Given the description of an element on the screen output the (x, y) to click on. 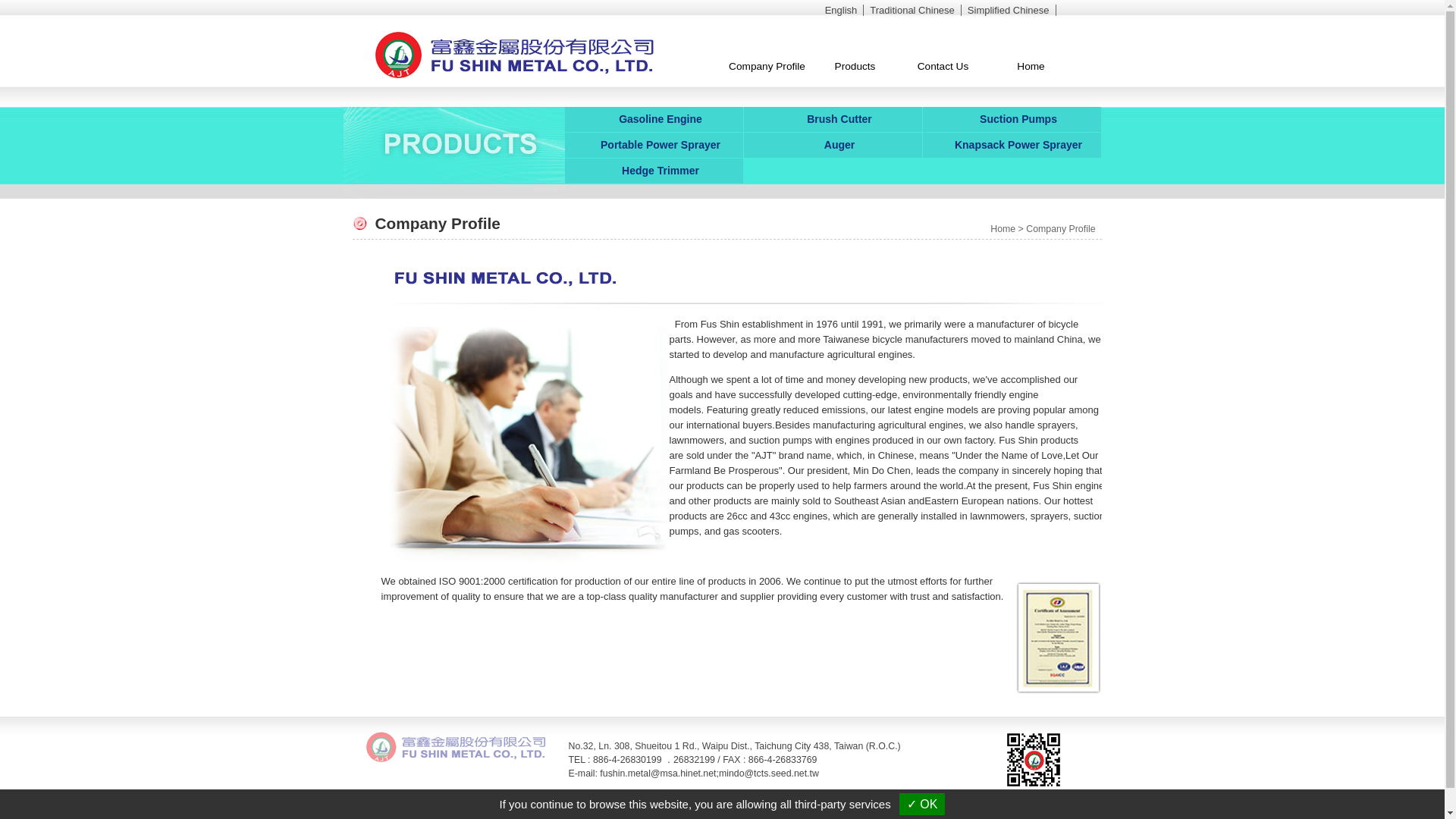
Contact Us (942, 66)
Company Profile (1060, 228)
Gasoline Engine (653, 118)
B2BManufactures (799, 813)
English (841, 9)
Suction Pumps (1010, 118)
Home (1030, 66)
B2BChinaSources (877, 813)
Taiwan Products (728, 813)
Auger (831, 143)
